Given the description of an element on the screen output the (x, y) to click on. 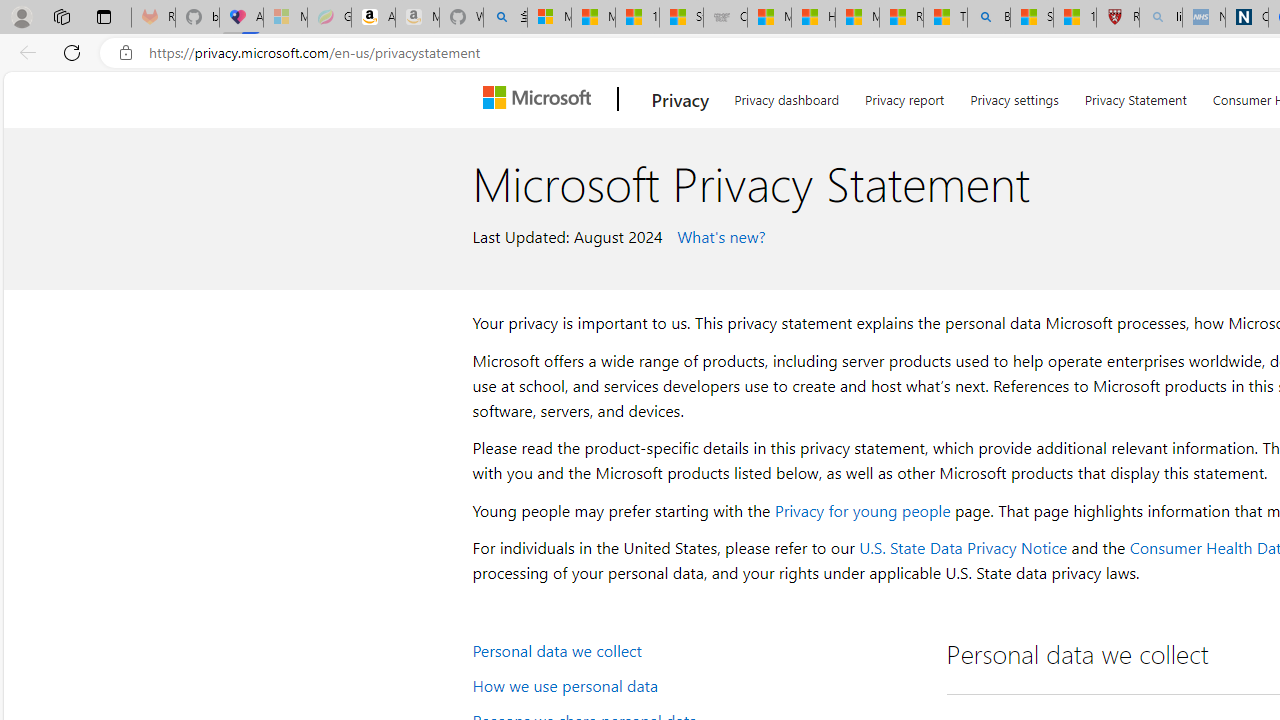
Privacy dashboard (786, 96)
Personal data we collect (696, 650)
Bing (988, 17)
12 Popular Science Lies that Must be Corrected (1074, 17)
Privacy dashboard (786, 96)
